Given the description of an element on the screen output the (x, y) to click on. 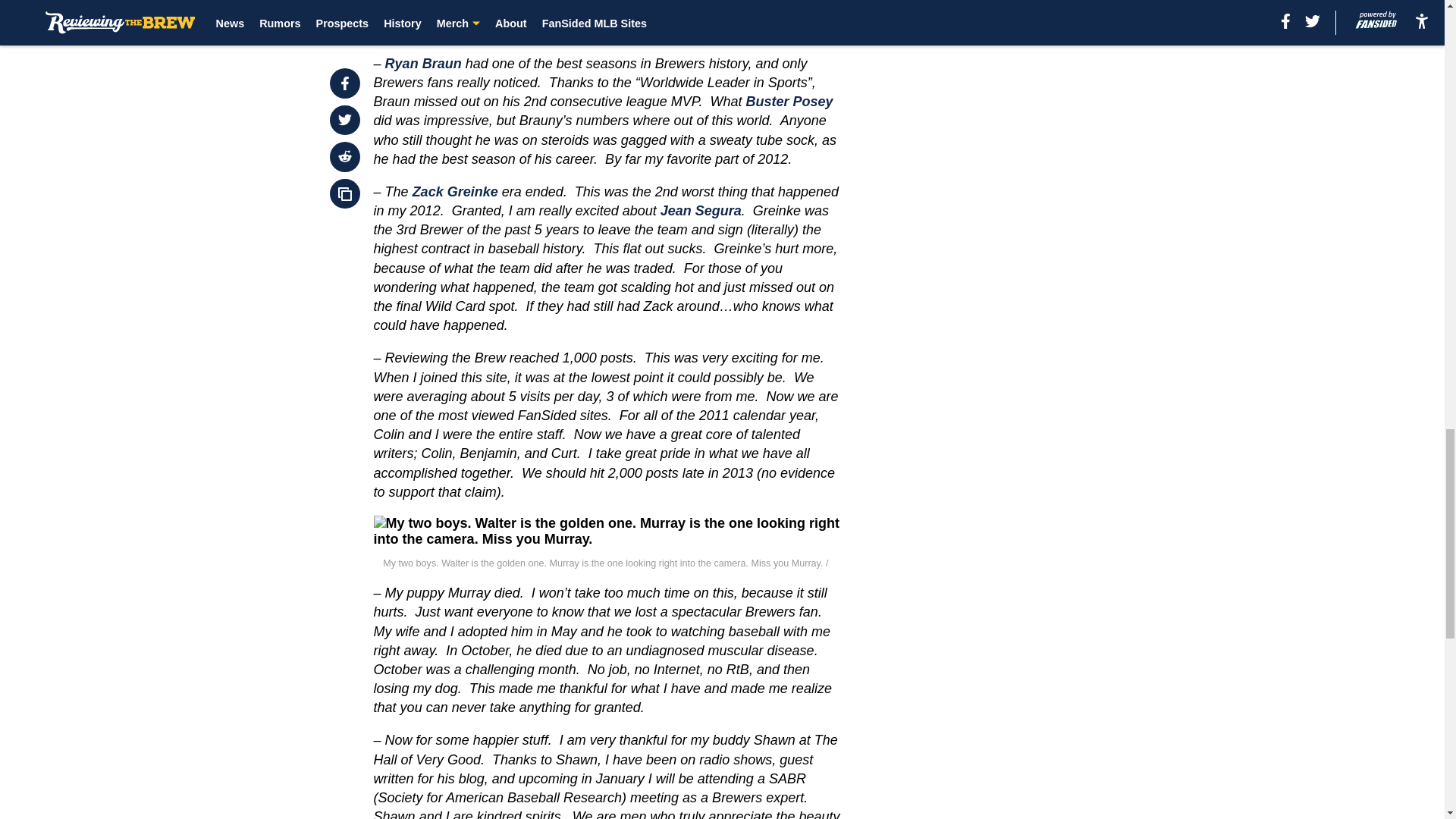
Jean Segura (701, 210)
MLB Fan Cave application video (635, 30)
Ryan Braun (423, 63)
Buster Posey (788, 101)
Zack Greinke (454, 191)
